Given the description of an element on the screen output the (x, y) to click on. 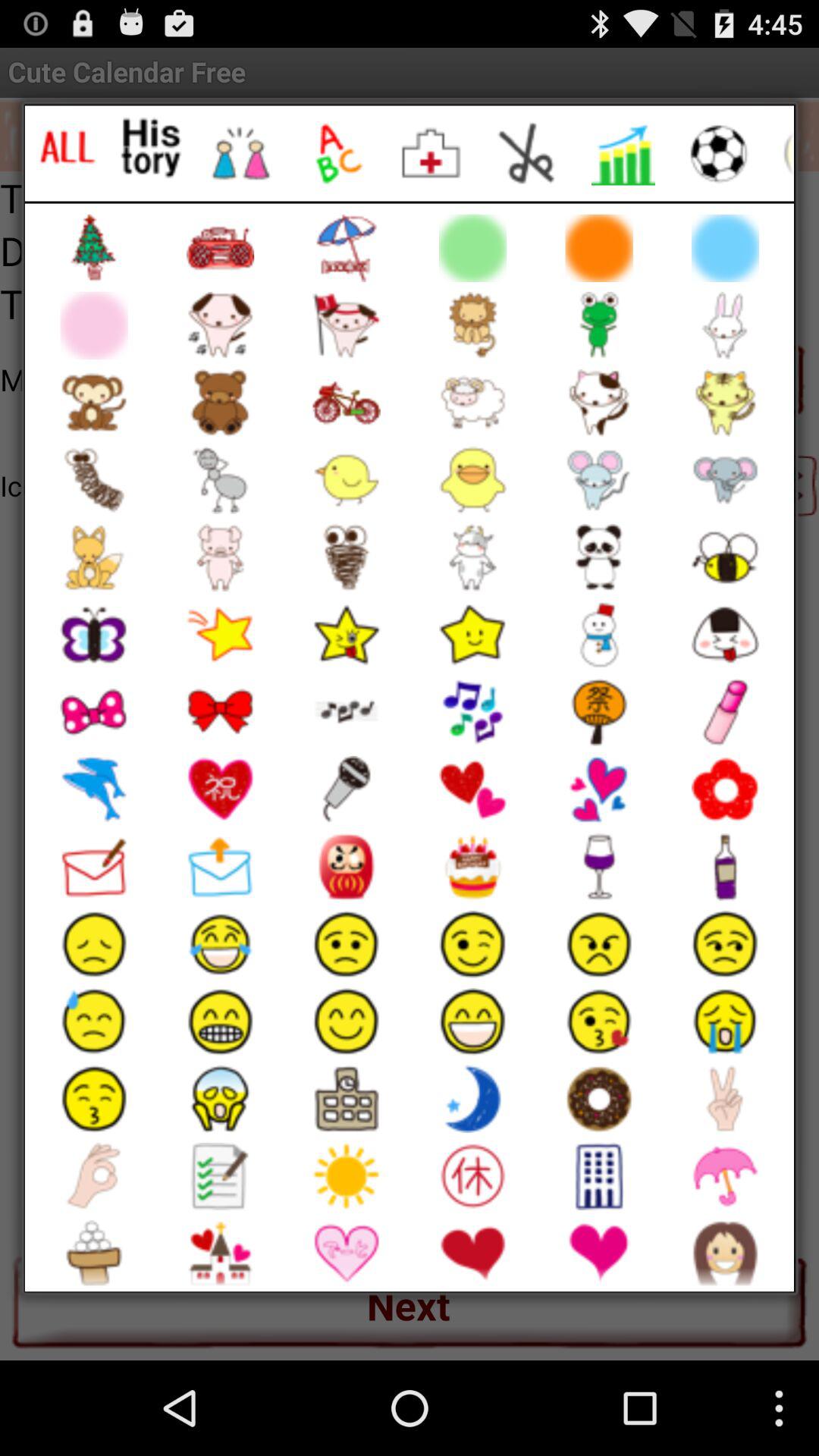
add symbol (240, 153)
